Given the description of an element on the screen output the (x, y) to click on. 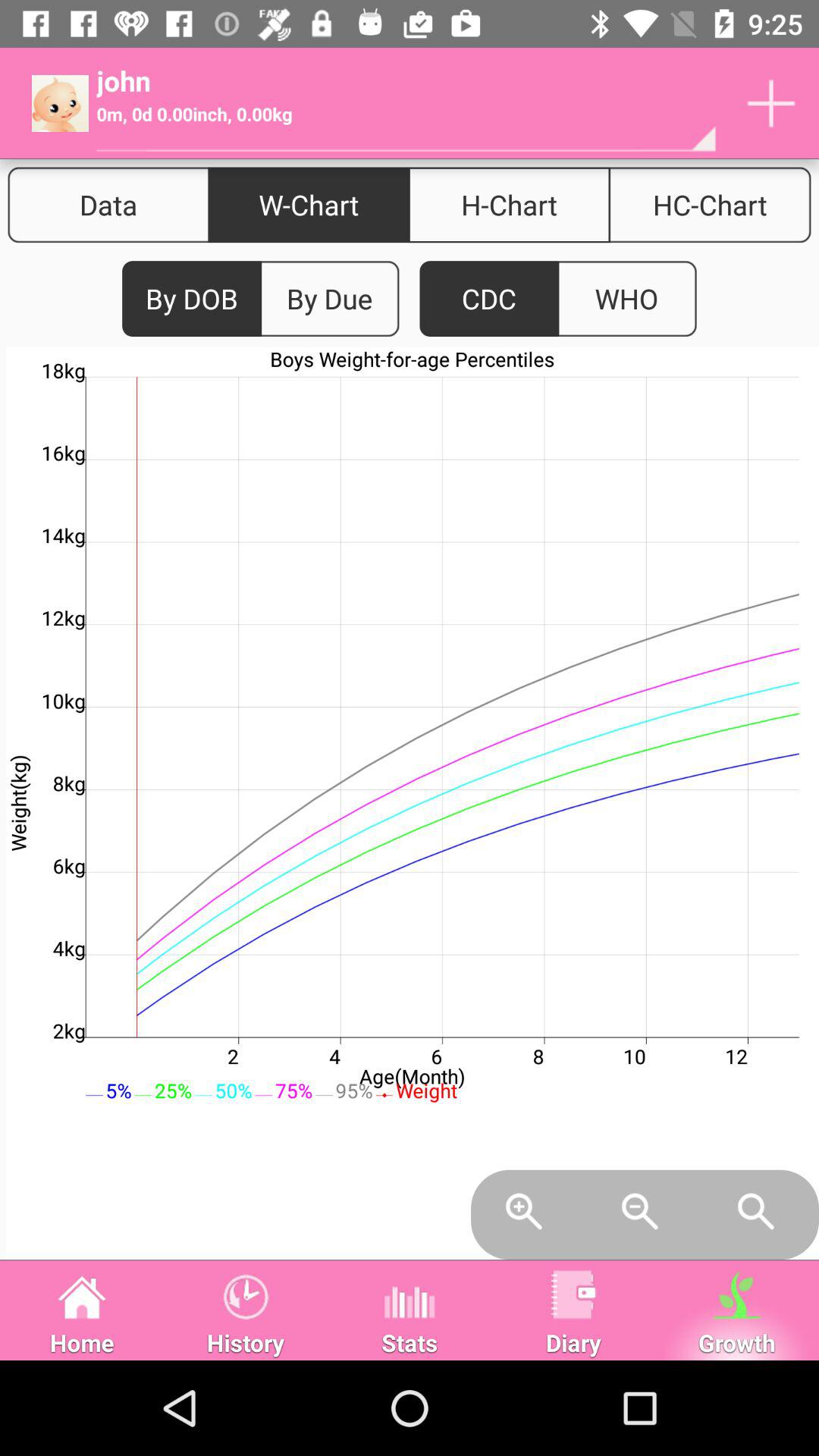
turn off the by dob icon (191, 298)
